Given the description of an element on the screen output the (x, y) to click on. 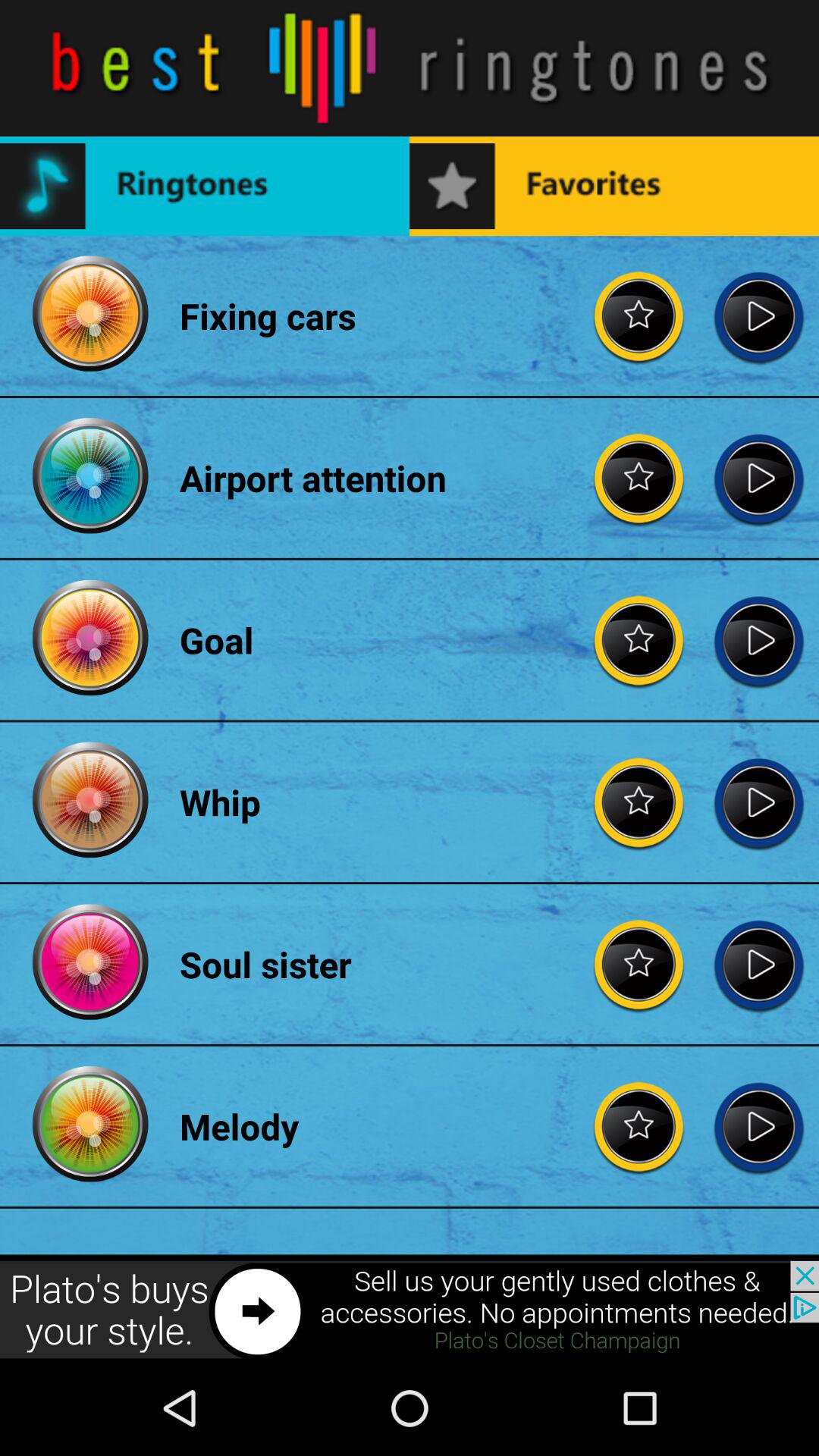
shows plato buys your style option (409, 1310)
